Given the description of an element on the screen output the (x, y) to click on. 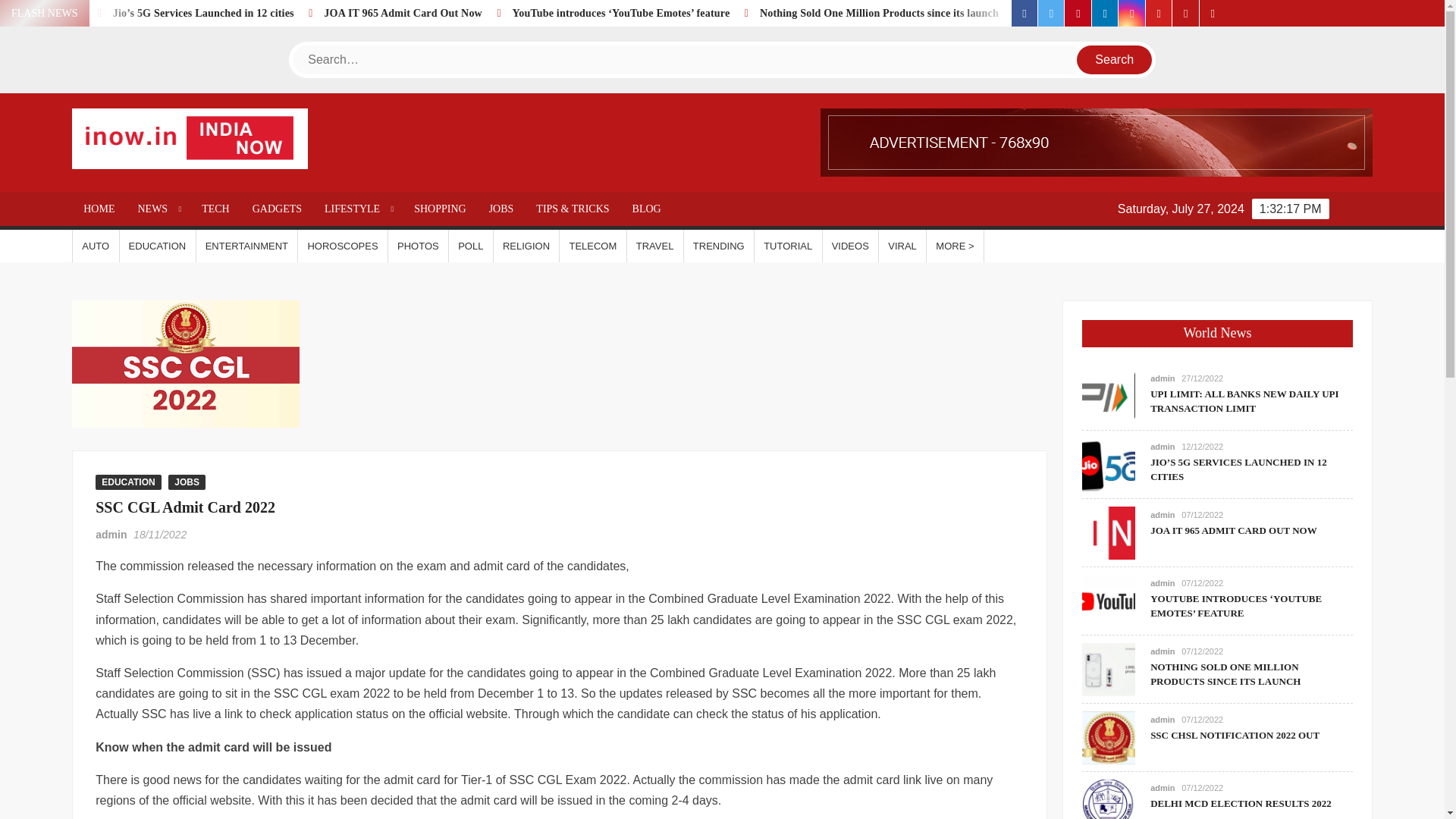
Search (1115, 59)
Nothing Sold One Million Products since its launch (978, 12)
Search (1115, 59)
JOA IT 965 Admit Card Out Now (507, 12)
UPI Limit: All Banks New Daily UPI Transaction Limit (95, 12)
